Given the description of an element on the screen output the (x, y) to click on. 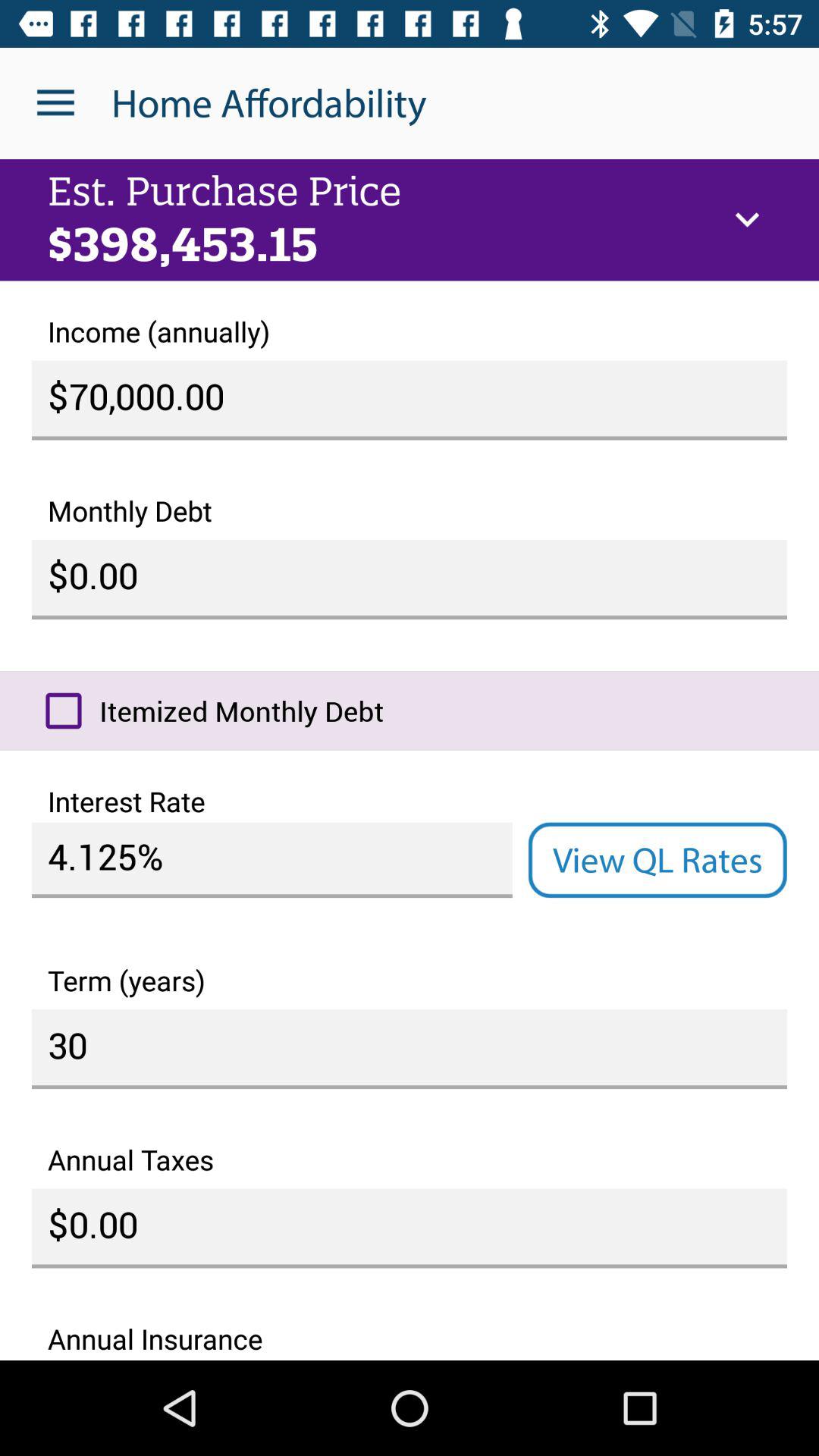
open the icon at the top right corner (747, 219)
